Given the description of an element on the screen output the (x, y) to click on. 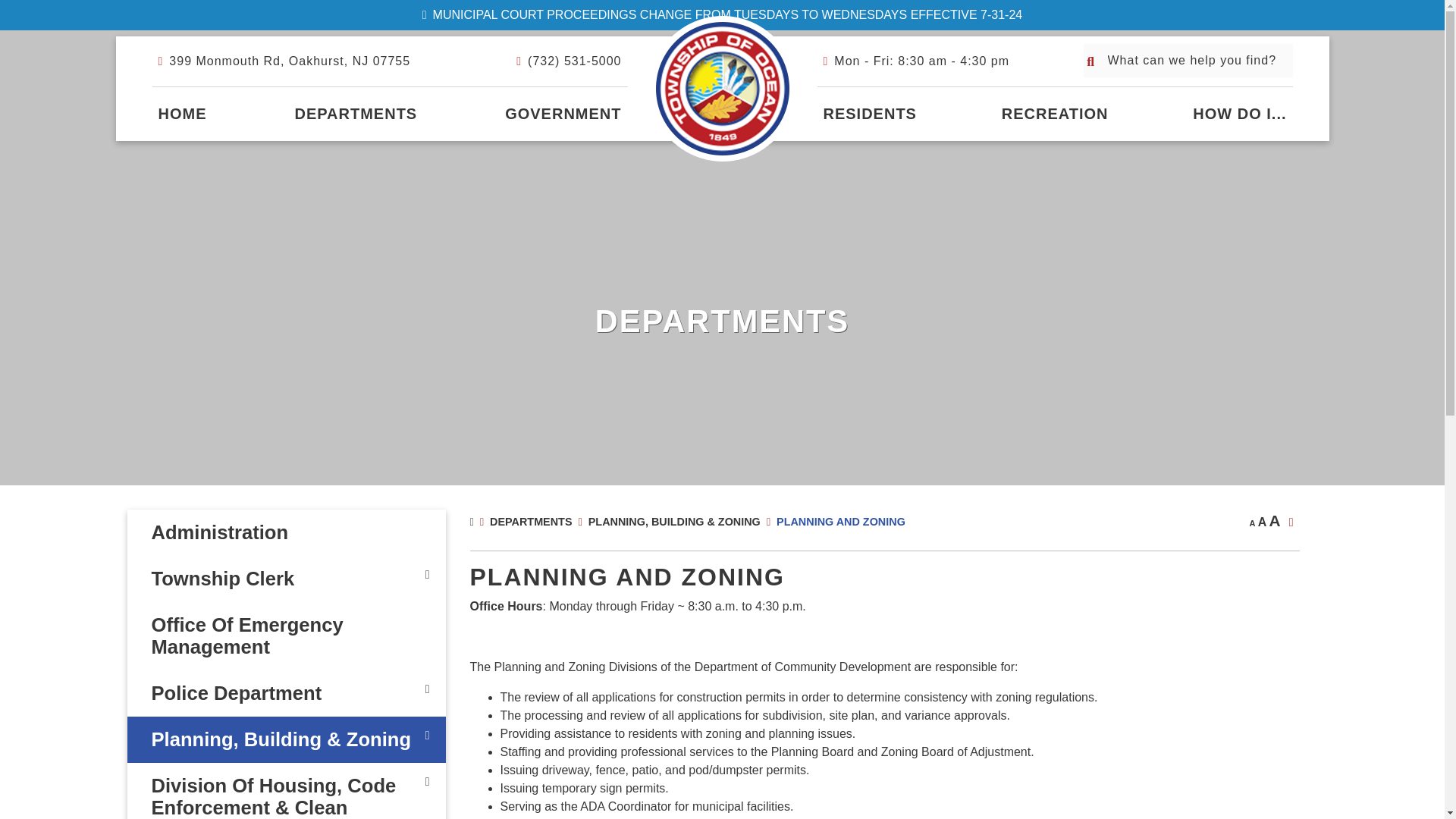
DEPARTMENTS (355, 113)
Click to view our business hours (916, 61)
Township of Ocean - Planning and Zoning (722, 88)
Our office is located at 399 Monmouth Rd, Oakhurst, NJ 07755 (283, 61)
Go to home (181, 113)
HOME (181, 113)
Click to view Departments (355, 113)
Mon - Fri: 8:30 am - 4:30 pm (916, 61)
399 Monmouth Rd, Oakhurst, NJ 07755 (283, 61)
Welcome to Township of Ocean - Planning and Zoning (722, 88)
